Given the description of an element on the screen output the (x, y) to click on. 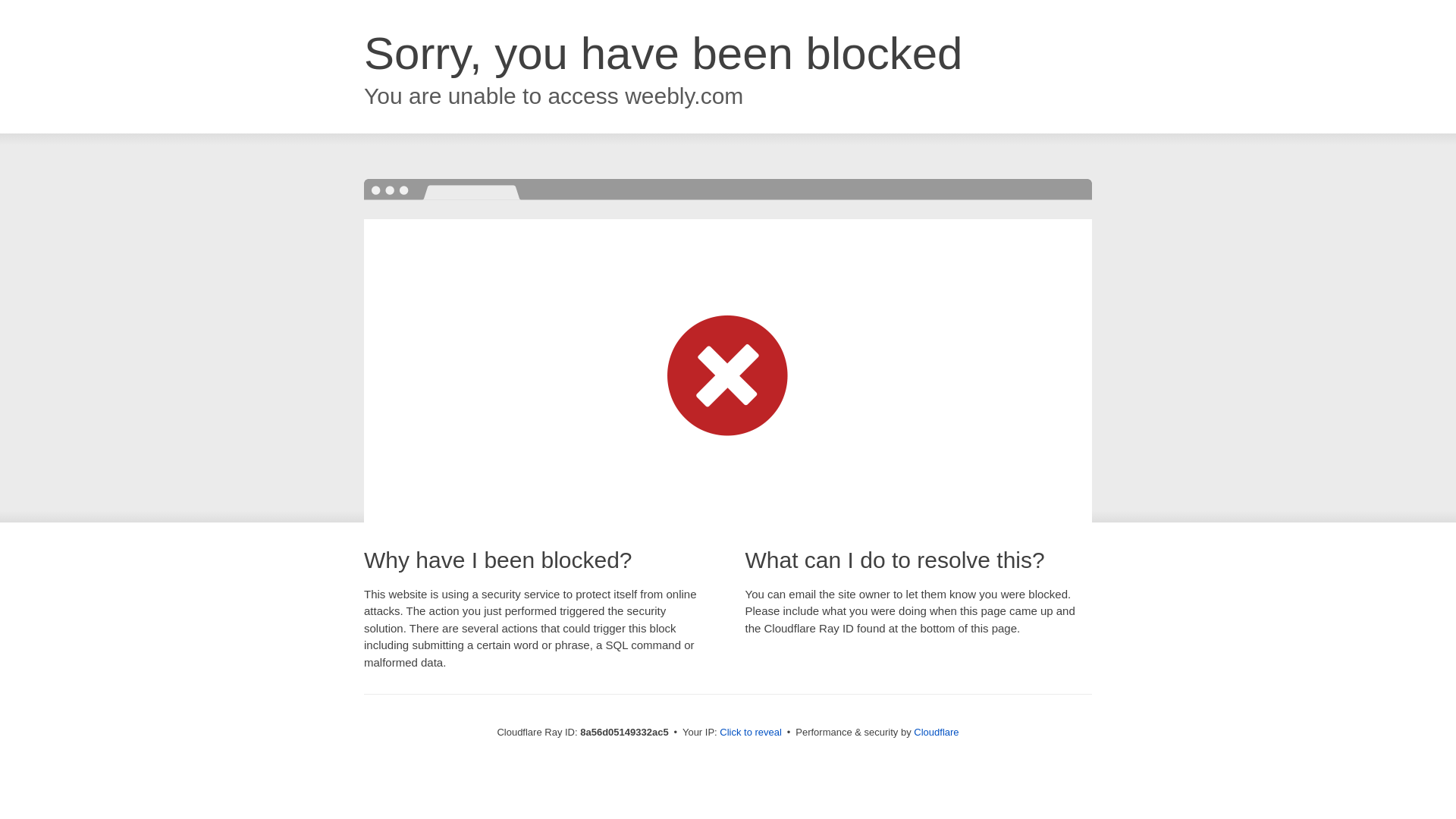
Cloudflare (936, 731)
Click to reveal (750, 732)
